Given the description of an element on the screen output the (x, y) to click on. 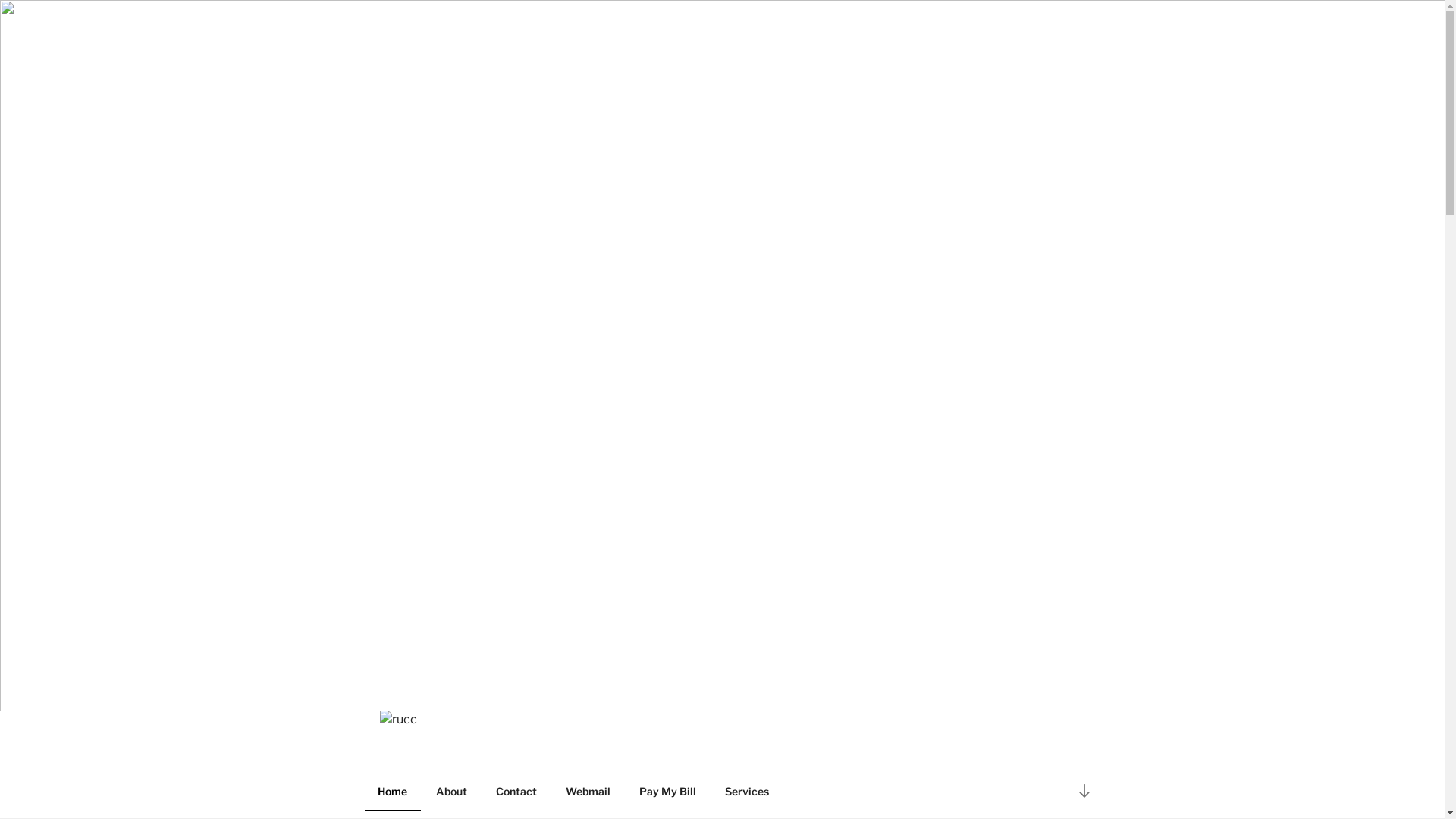
Services Element type: text (746, 790)
Top Element type: text (1408, 782)
About Element type: text (451, 790)
Home Element type: text (392, 790)
Pay My Bill Element type: text (667, 790)
Webmail Element type: text (587, 790)
Scroll down to content Element type: text (1083, 790)
Contact Element type: text (515, 790)
RUCC Element type: text (423, 745)
